Given the description of an element on the screen output the (x, y) to click on. 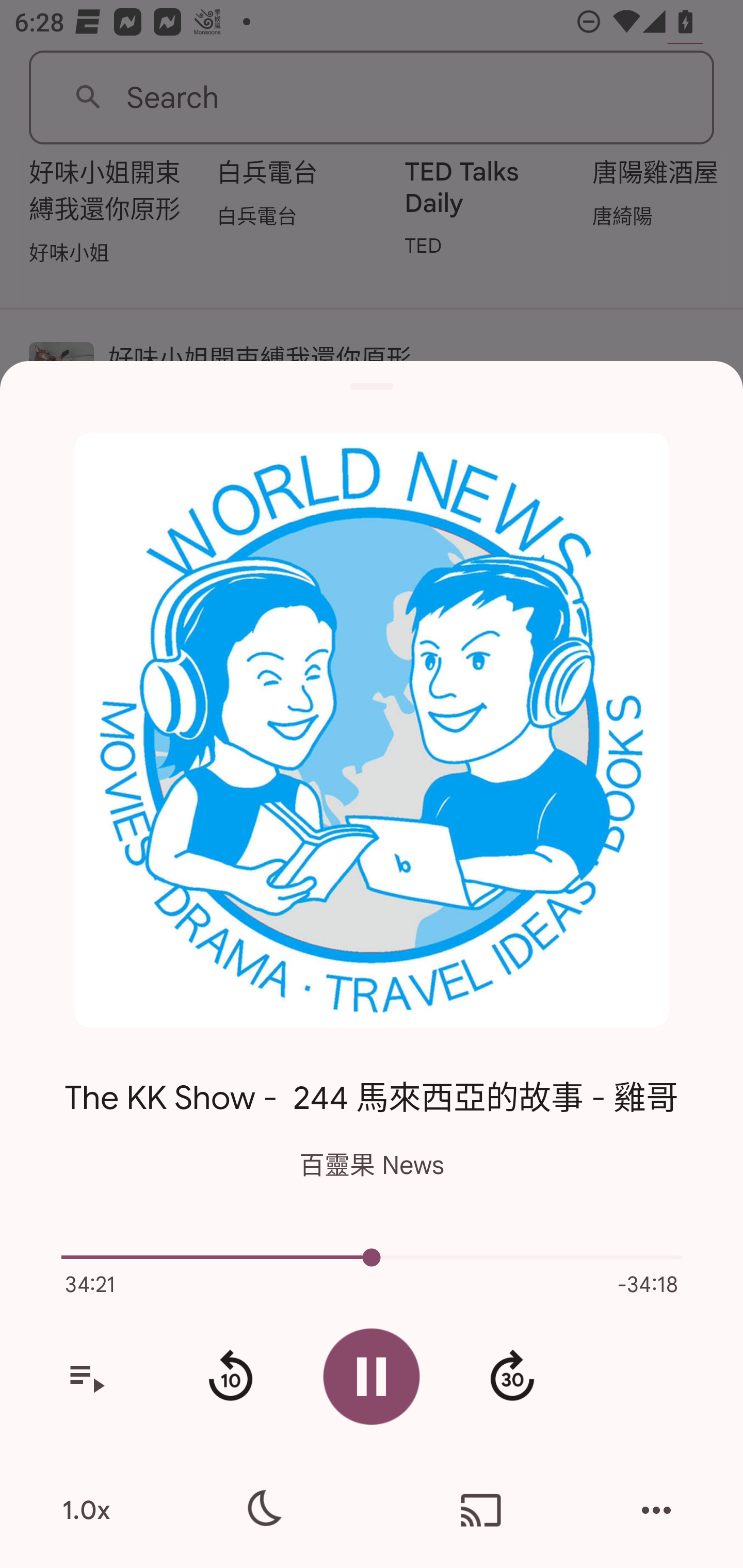
Open the show page for 百靈果 News (371, 729)
The KK Show -  244 馬來西亞的故事 - 雞哥 百靈果 News (371, 1113)
5002.0 Current episode playback (371, 1257)
Pause (371, 1376)
View your queue (86, 1376)
Rewind 10 seconds (230, 1376)
Fast forward 30 second (511, 1376)
1.0x Playback speed is 1.0. (86, 1510)
Sleep timer settings (261, 1510)
Cast. Disconnected (480, 1510)
More actions (655, 1510)
